Given the description of an element on the screen output the (x, y) to click on. 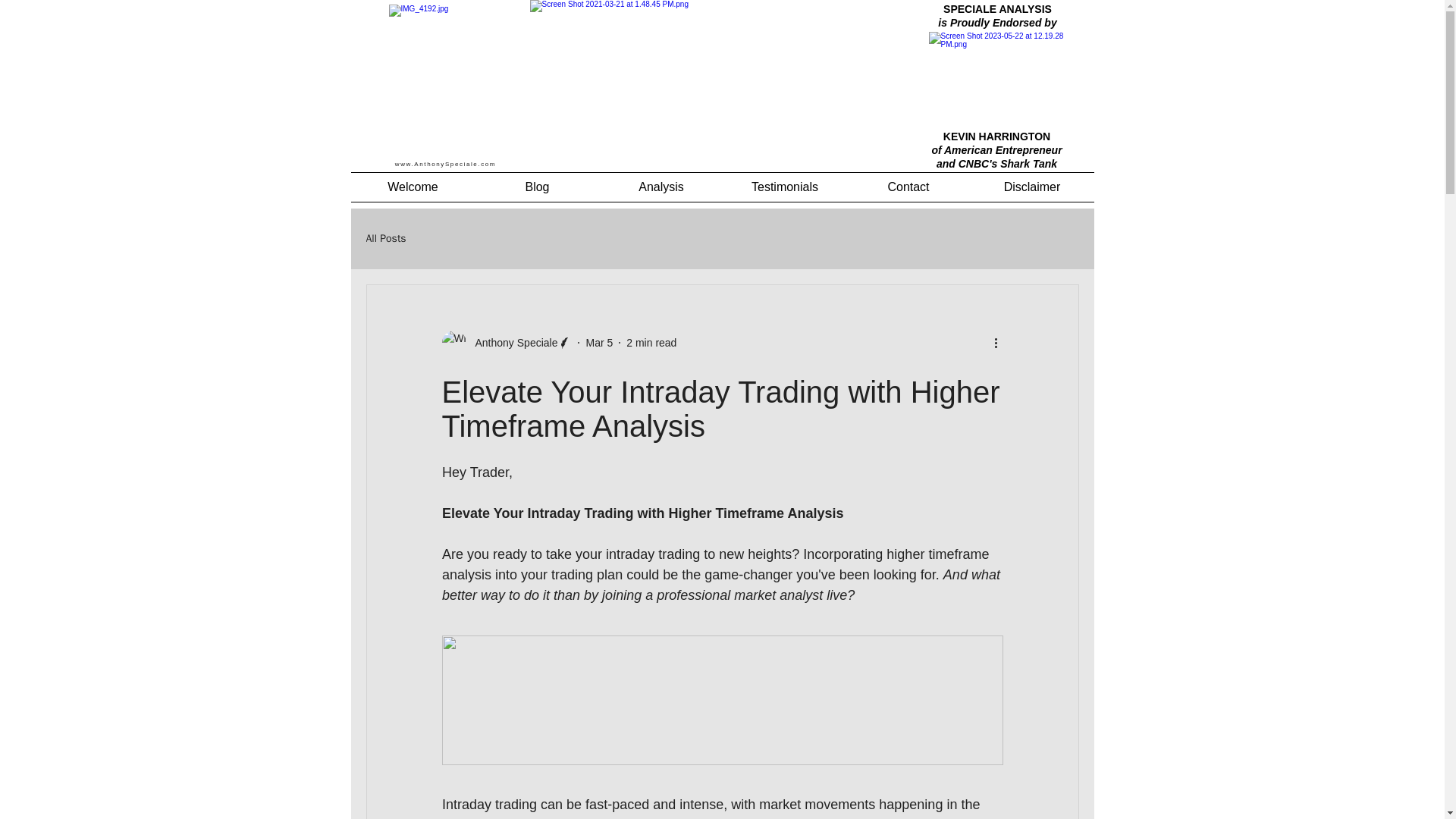
Testimonials (785, 186)
Contact (907, 186)
2 min read (651, 342)
Analysis (660, 186)
Anthony Speciale (511, 342)
Welcome (412, 186)
Anthony Speciale (506, 342)
www.AnthonySpeciale.com (445, 163)
Blog (536, 186)
Disclaimer (1032, 186)
All Posts (385, 238)
Mar 5 (598, 342)
